Given the description of an element on the screen output the (x, y) to click on. 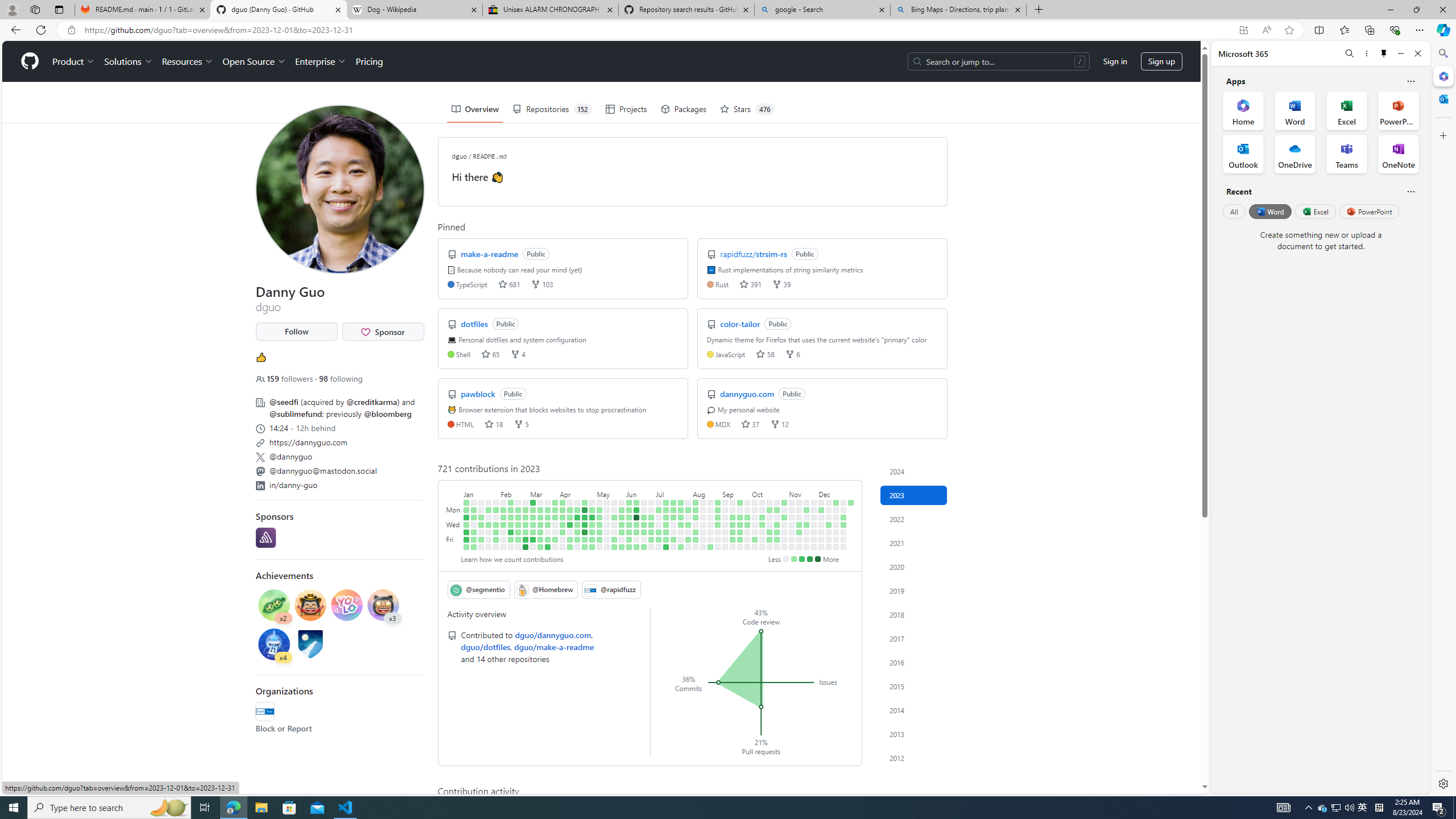
@dannyguo (338, 454)
1 contribution on September 12th. (732, 517)
6 contributions on March 15th. (540, 524)
October (769, 492)
No contributions on March 11th. (532, 546)
No contributions on December 15th. (828, 539)
3 contributions on January 7th. (466, 546)
forks (775, 424)
https://dannyguo.com (308, 441)
stars 681 (508, 283)
No contributions on September 18th. (740, 509)
4 contributions on June 5th. (628, 509)
1 contribution on January 23rd. (489, 509)
